Given the description of an element on the screen output the (x, y) to click on. 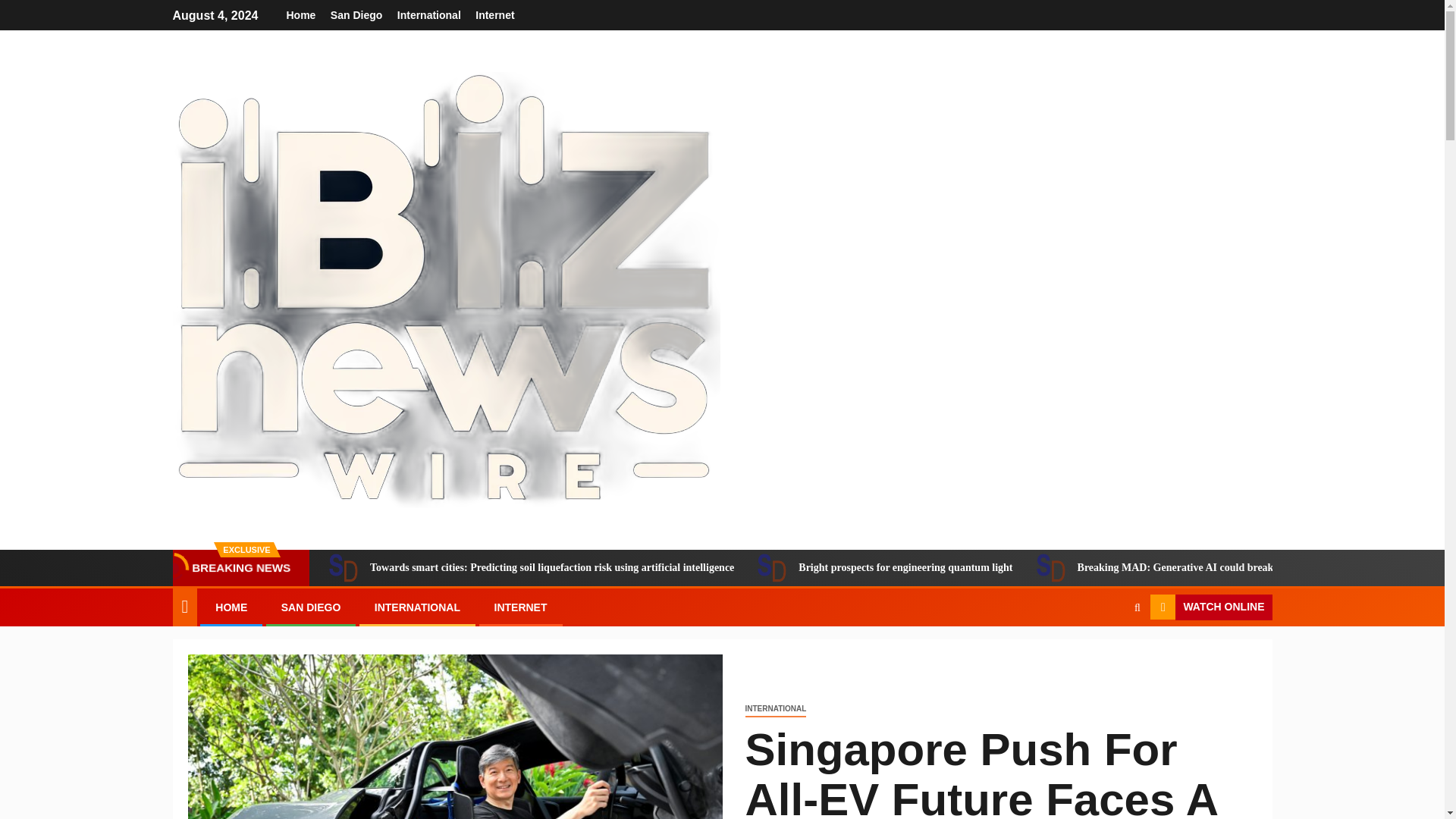
Home (300, 15)
WATCH ONLINE (1210, 606)
INTERNET (521, 607)
HOME (231, 607)
Internet (494, 15)
San Diego (355, 15)
Search (1107, 653)
SAN DIEGO (310, 607)
International (429, 15)
INTERNATIONAL (775, 709)
Bright prospects for engineering quantum light (884, 567)
INTERNATIONAL (417, 607)
